Given the description of an element on the screen output the (x, y) to click on. 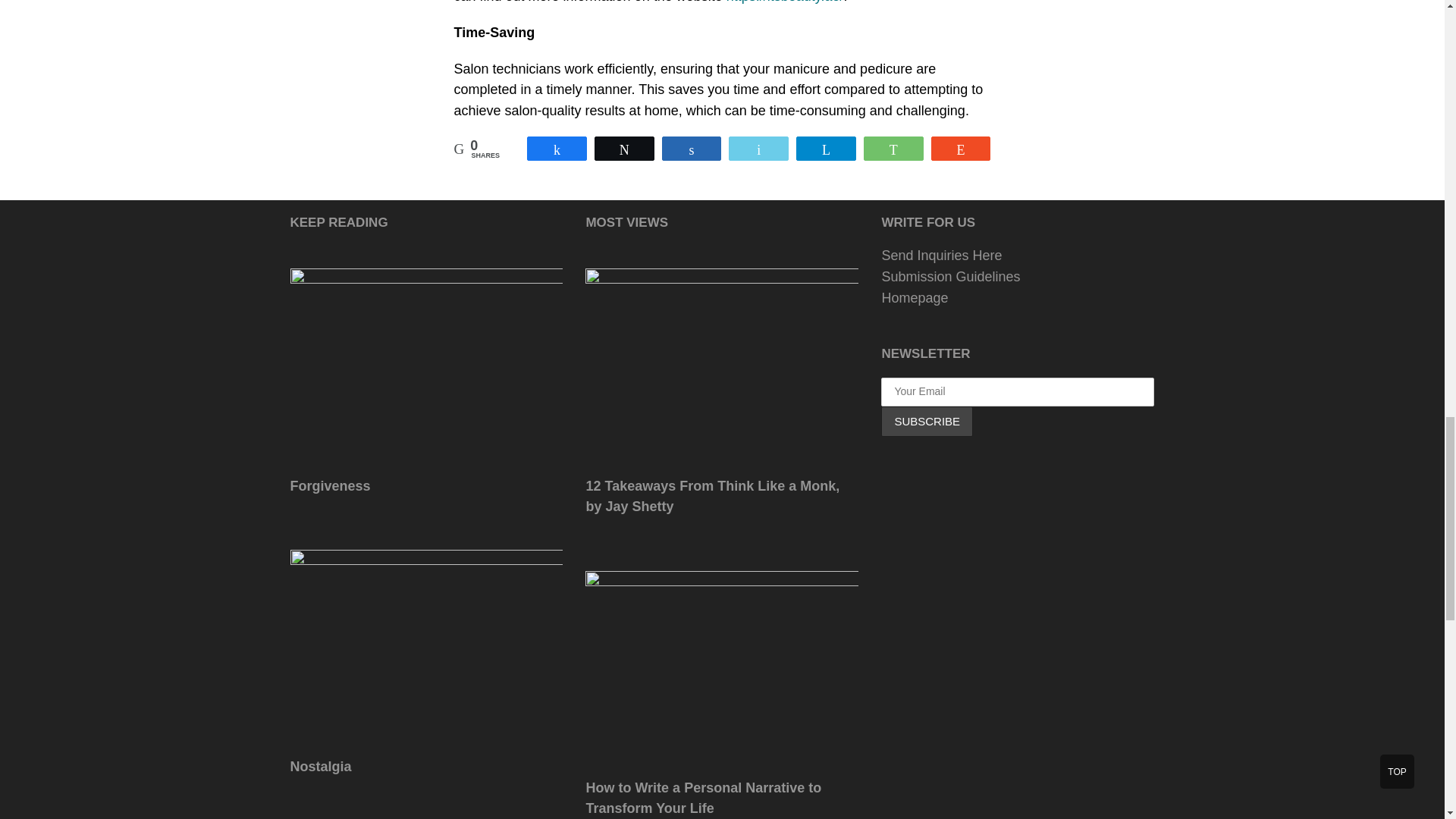
12 Takeaways From Think Like a Monk, by Jay Shetty (712, 495)
Forgiveness (329, 485)
Send Inquiries Here (940, 255)
12 Takeaways From Think Like a Monk, by Jay Shetty (722, 278)
Nostalgia (425, 559)
Forgiveness (425, 278)
SUBSCRIBE (926, 420)
How to Write a Personal Narrative to Transform Your Life (703, 798)
Submission Guidelines (950, 276)
12 Takeaways From Think Like a Monk, by Jay Shetty (712, 495)
